Given the description of an element on the screen output the (x, y) to click on. 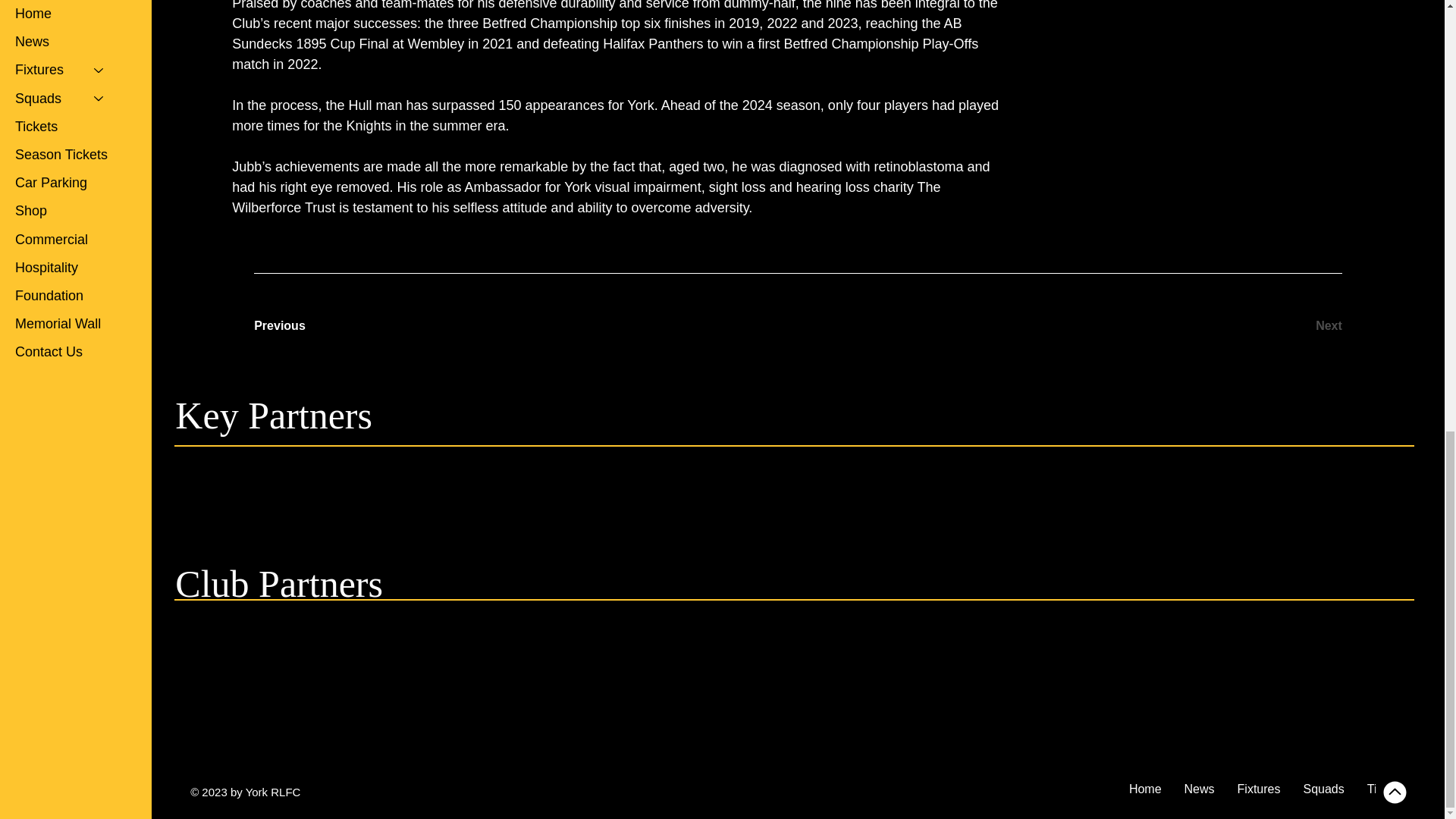
Next (1288, 326)
Previous (307, 326)
